Given the description of an element on the screen output the (x, y) to click on. 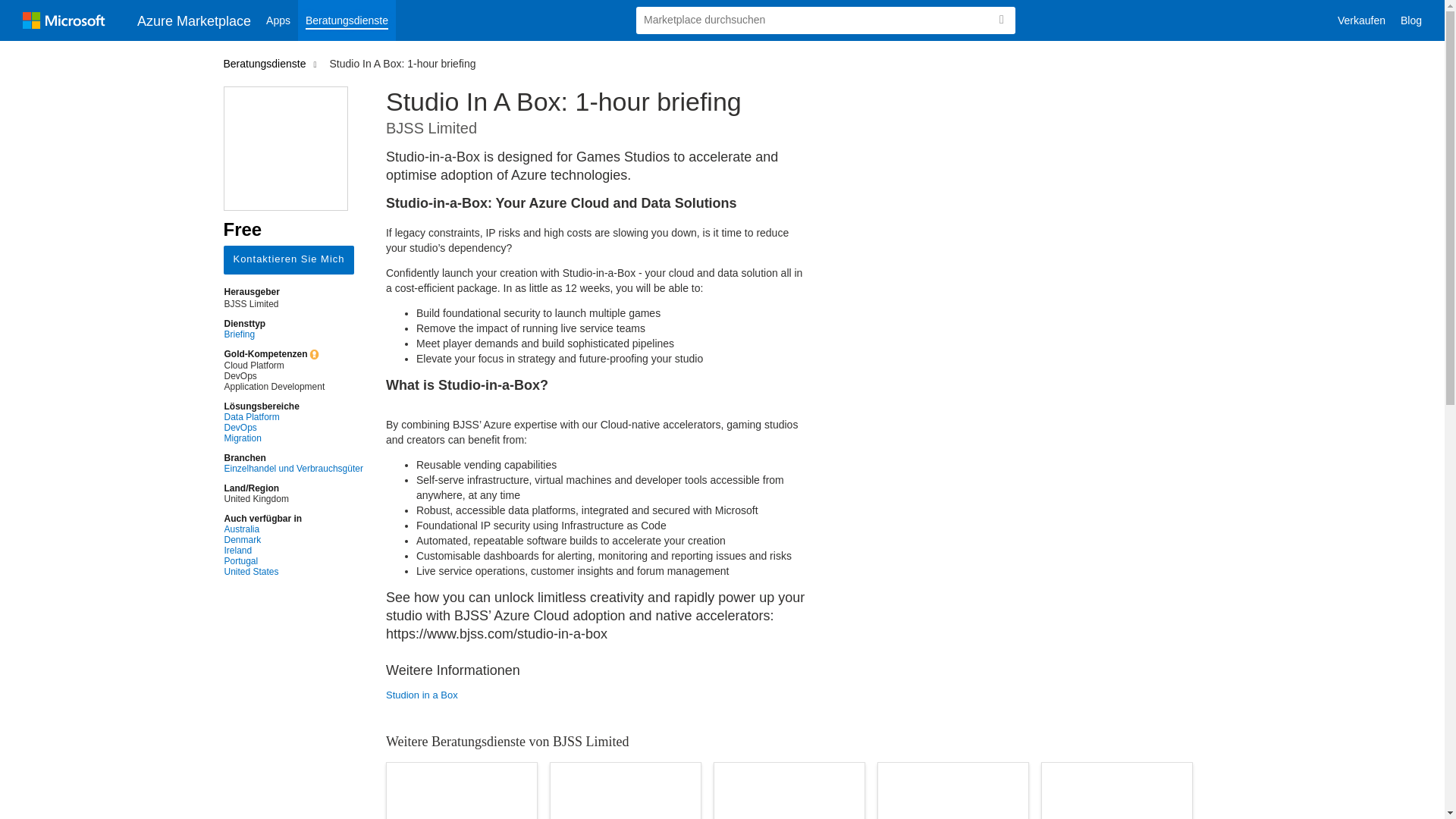
Denmark (293, 539)
Australia (293, 529)
Verkaufen (1361, 20)
Briefing (293, 334)
United States (293, 571)
Migration (293, 438)
Studion in a Box (597, 695)
Ireland (293, 550)
Search (1001, 19)
Azure Marketplace (194, 20)
Data Platform (293, 416)
Portugal (293, 561)
Blog (1411, 20)
Beratungsdienste (347, 20)
DevOps (293, 427)
